Given the description of an element on the screen output the (x, y) to click on. 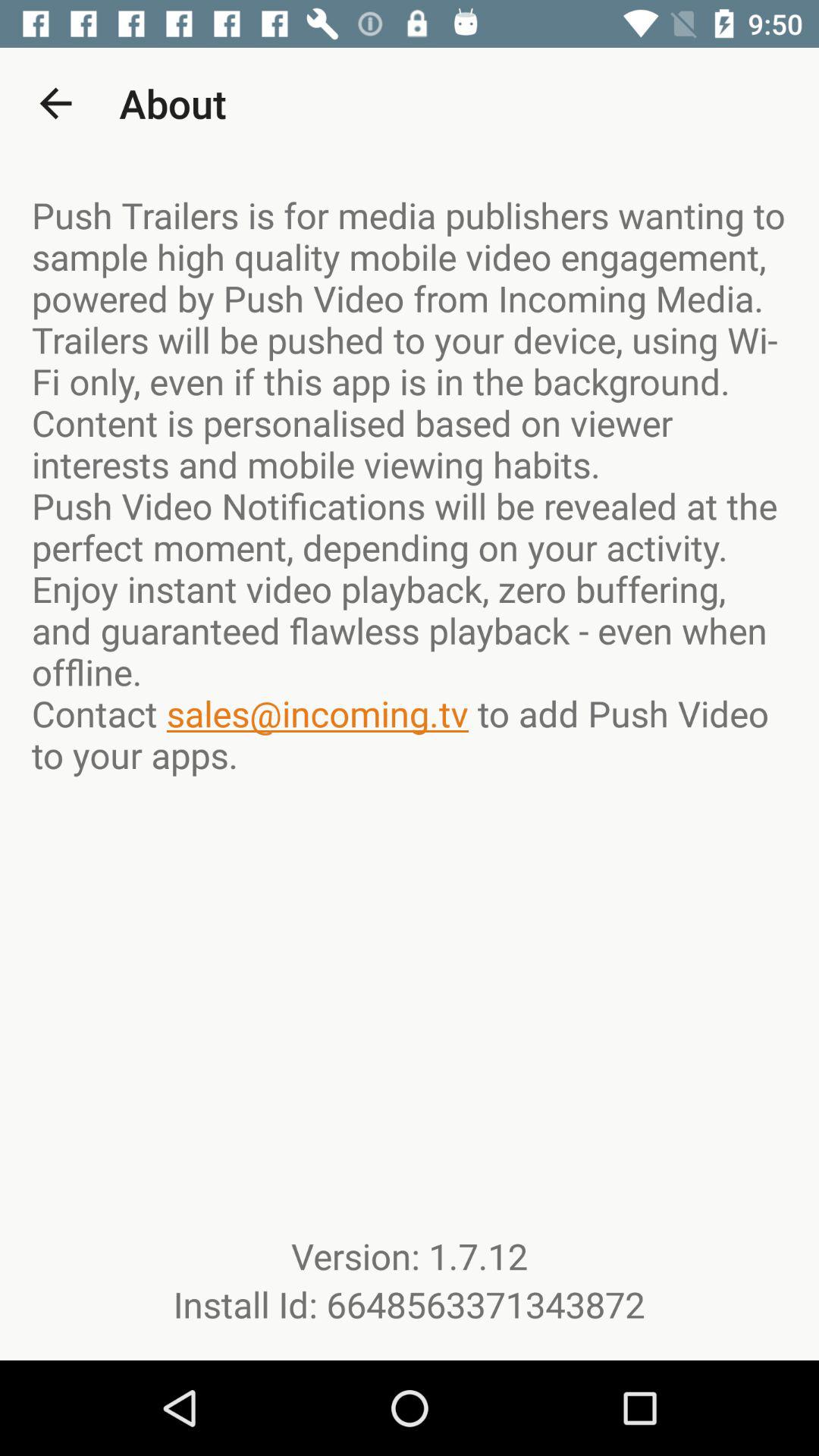
turn on the icon above version 1 7 item (409, 485)
